Given the description of an element on the screen output the (x, y) to click on. 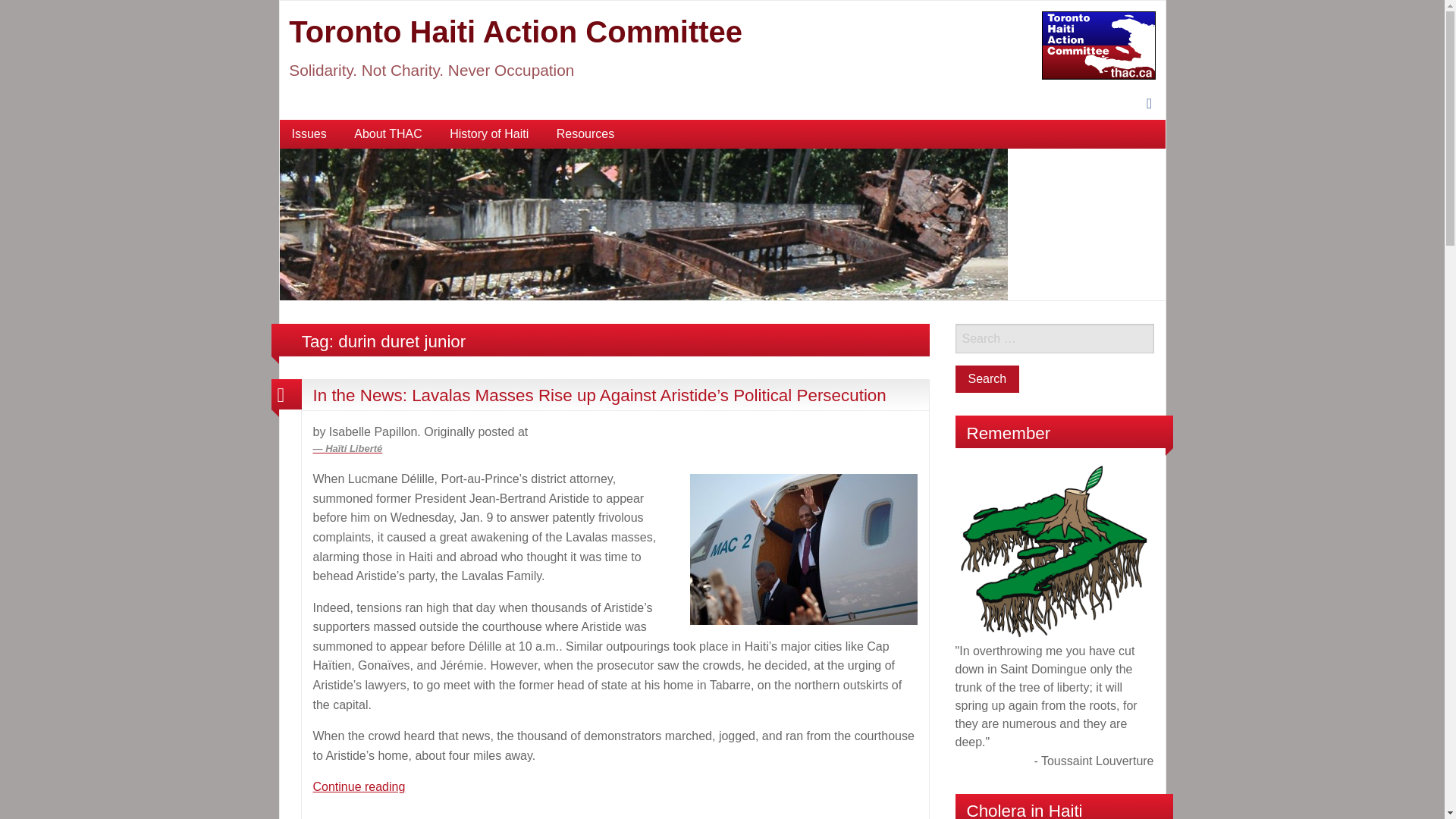
About THAC (387, 133)
Resources (585, 133)
History of Haiti (489, 133)
Search (987, 379)
Former President Jean-Bertrand Aristide Returns To Haiti (803, 549)
Search (987, 379)
Toronto Haiti Action Committee (643, 223)
Facebook (1148, 103)
Search (987, 379)
Toronto Haiti Action Committee (515, 31)
Issues (308, 133)
